Given the description of an element on the screen output the (x, y) to click on. 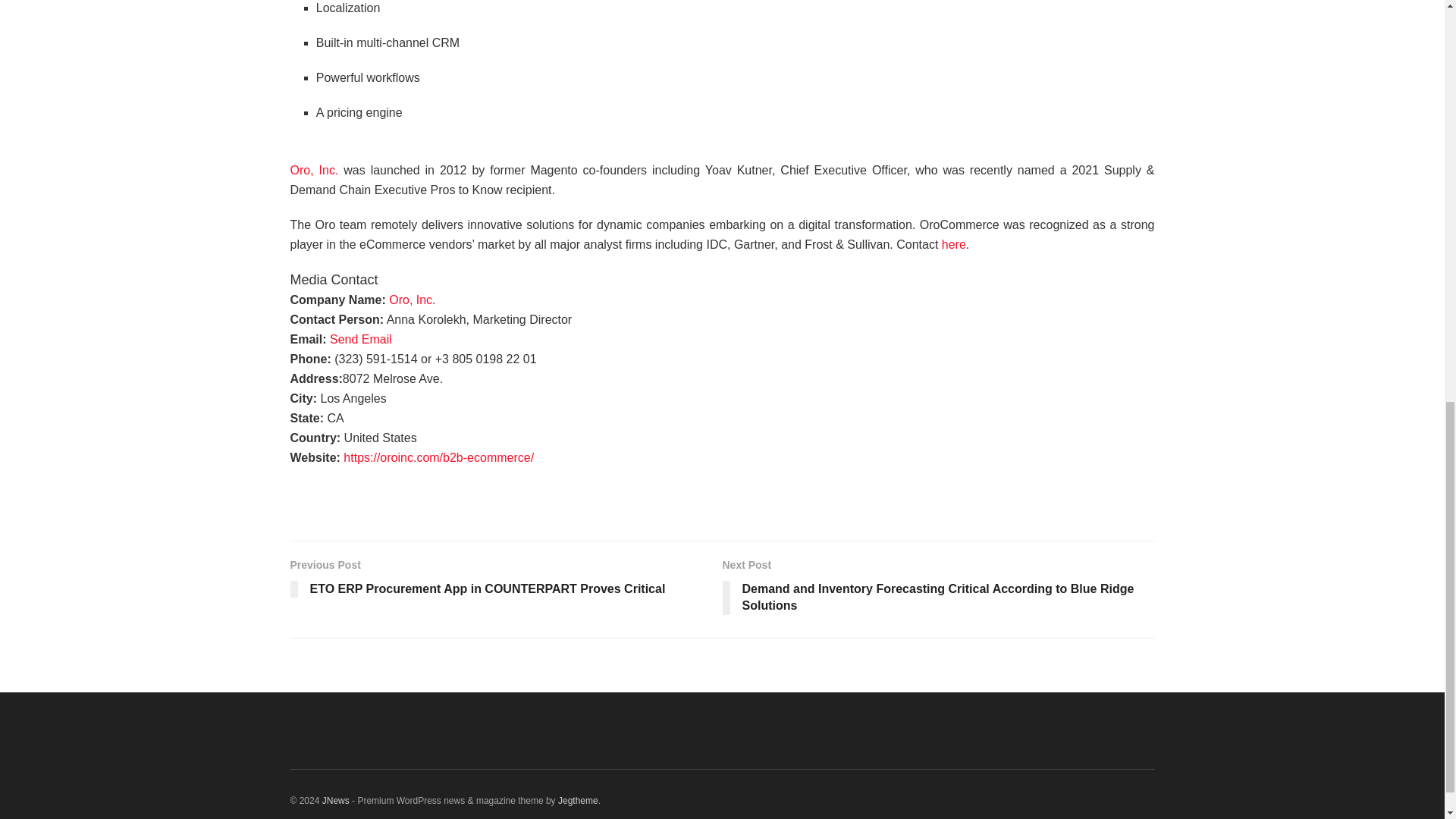
Oro, Inc. (313, 179)
Jegtheme (577, 800)
JNews (335, 800)
Send Email (360, 338)
Oro, Inc. (411, 299)
Jegtheme (577, 800)
here (954, 244)
